Given the description of an element on the screen output the (x, y) to click on. 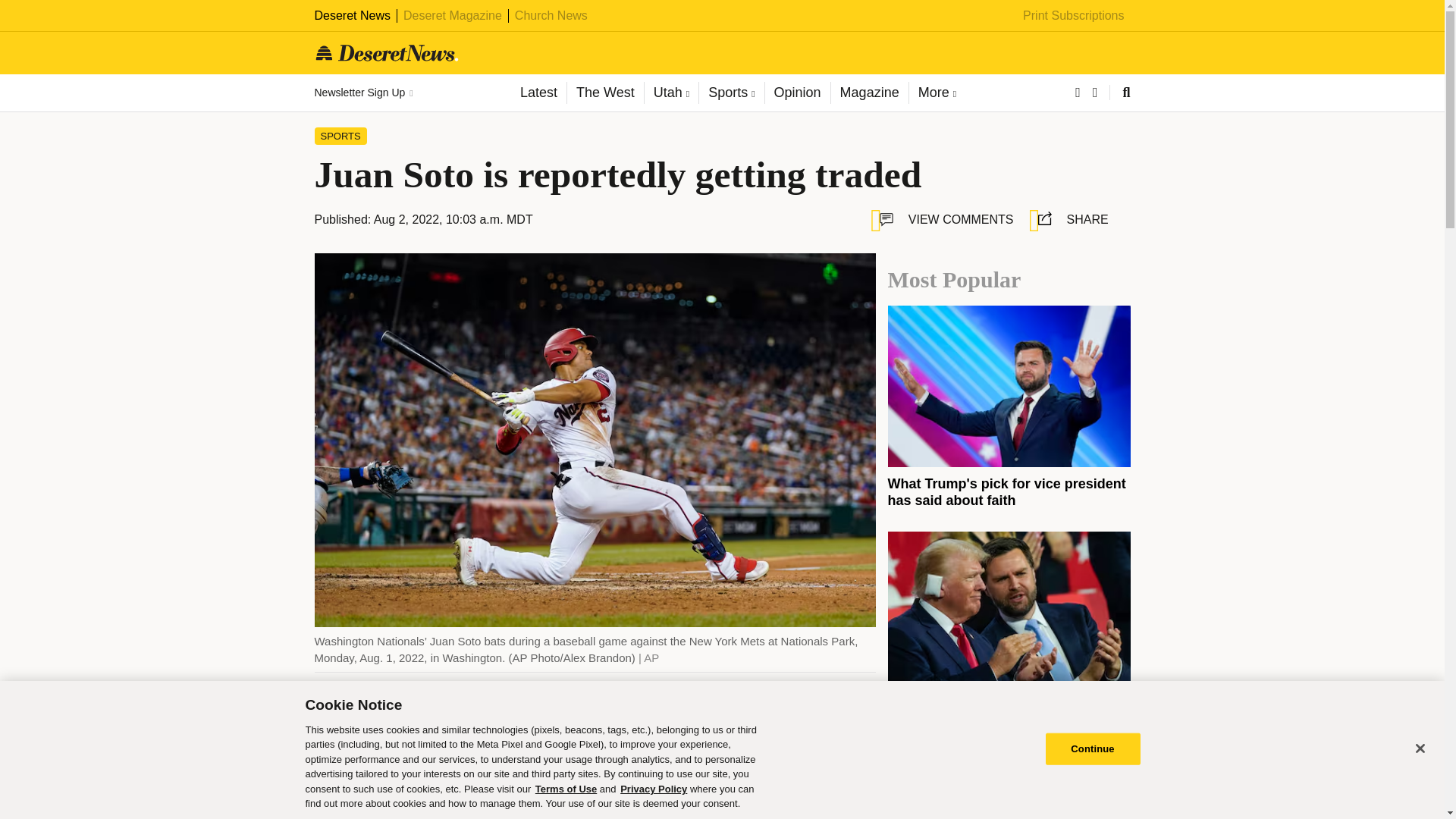
Newsletter Sign Up (363, 92)
Latest (538, 92)
Deseret News (352, 15)
SPORTS (340, 135)
Church News (551, 15)
Donald Trump announces Sen. JD Vance as his running mate (997, 717)
Ryan McDonald (441, 706)
Utah (670, 92)
Sports (730, 92)
Deseret Magazine (452, 15)
What Trump's pick for vice president has said about faith (1005, 491)
Magazine (868, 92)
The West (604, 92)
Print Subscriptions (1073, 15)
Opinion (796, 92)
